Given the description of an element on the screen output the (x, y) to click on. 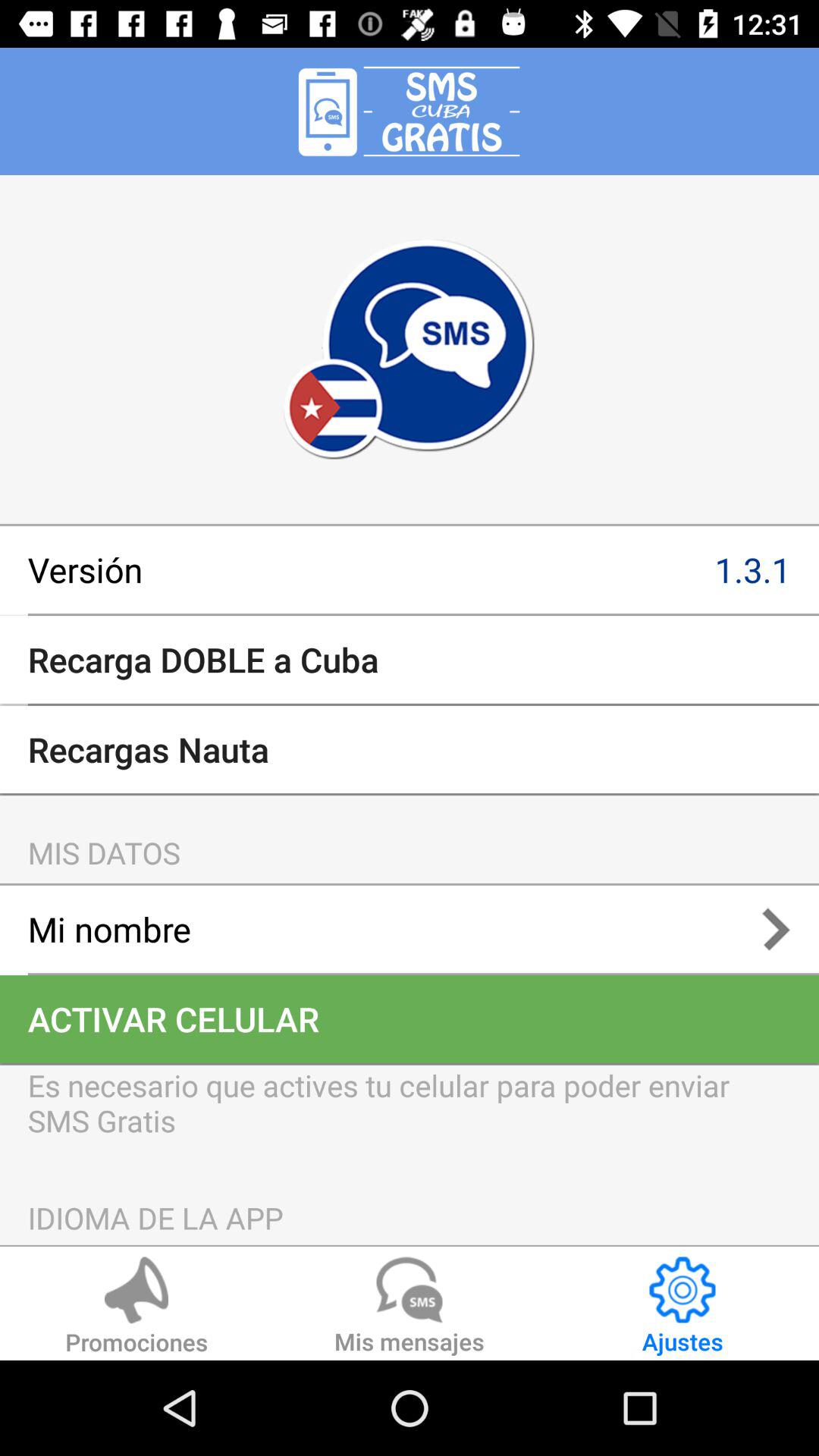
press mis mensajes item (409, 1308)
